Given the description of an element on the screen output the (x, y) to click on. 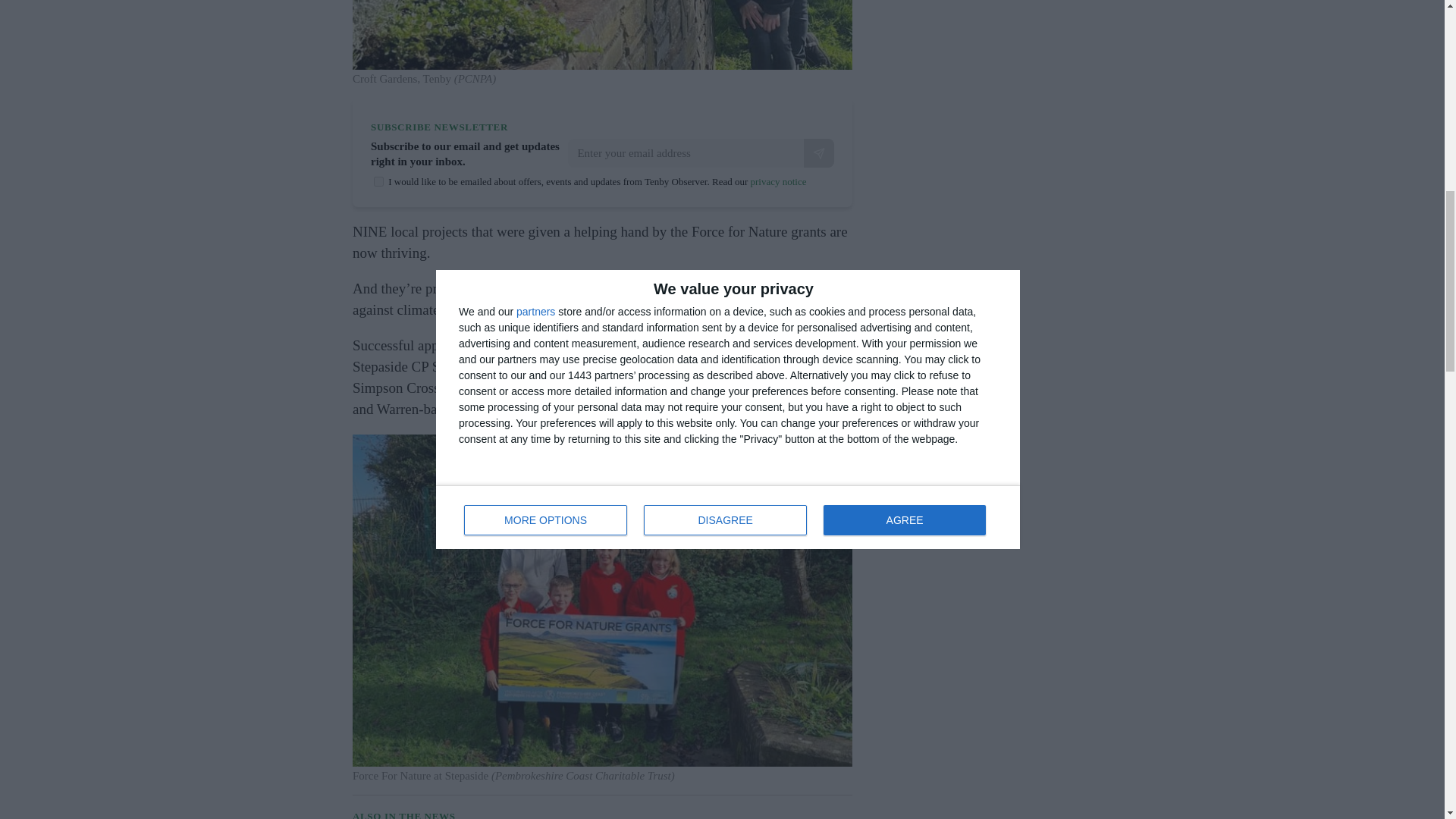
privacy notice (778, 181)
